Given the description of an element on the screen output the (x, y) to click on. 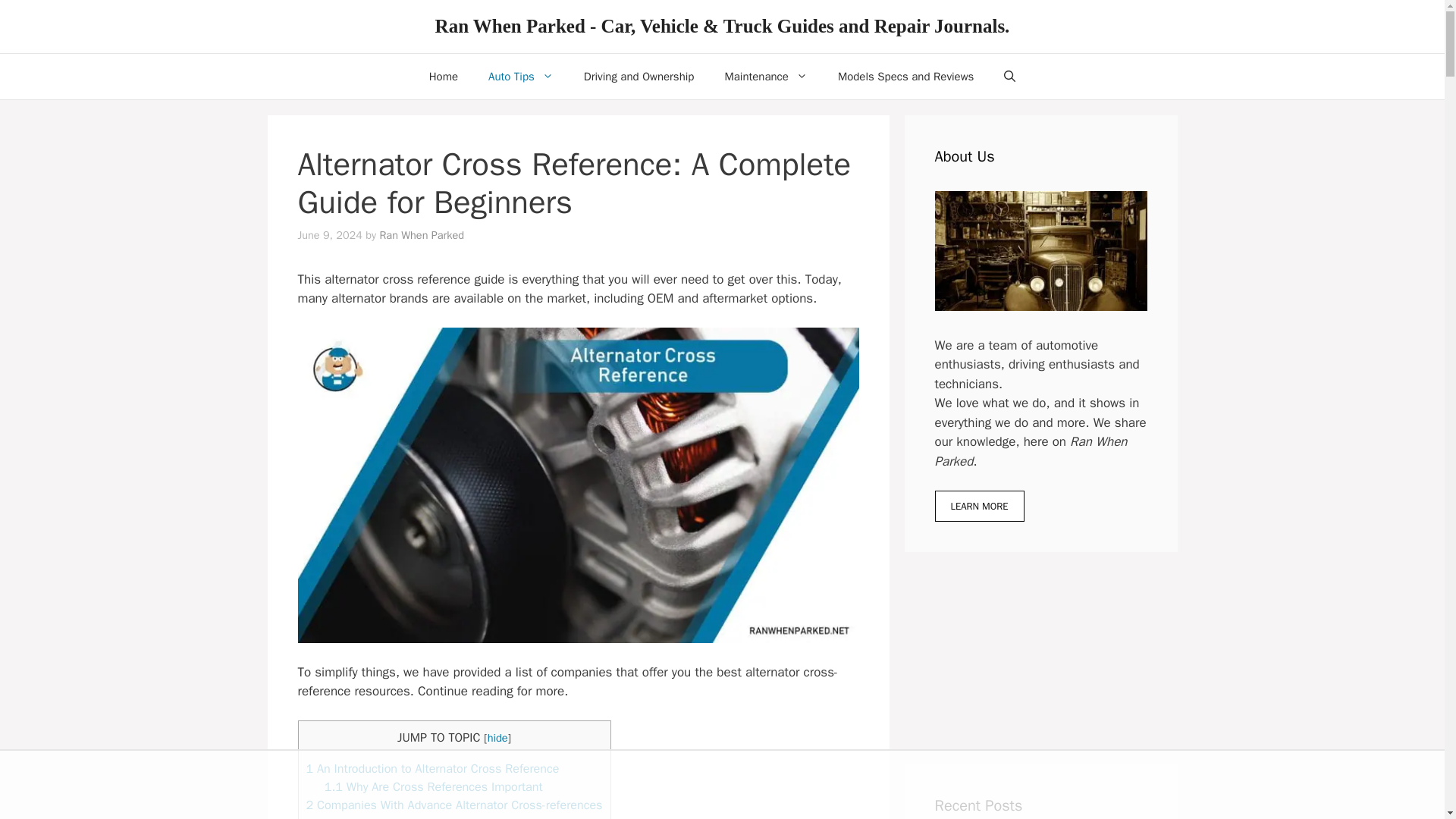
Maintenance (765, 76)
hide (497, 737)
Driving and Ownership (639, 76)
2 Companies With Advance Alternator Cross-references (453, 804)
Home (443, 76)
Ran When Parked (421, 234)
1.1 Why Are Cross References Important (433, 786)
2.1 Delco Remy Alternator Cross-Reference (440, 817)
Models Specs and Reviews (905, 76)
1 An Introduction to Alternator Cross Reference (432, 768)
View all posts by Ran When Parked (421, 234)
Auto Tips (521, 76)
